Given the description of an element on the screen output the (x, y) to click on. 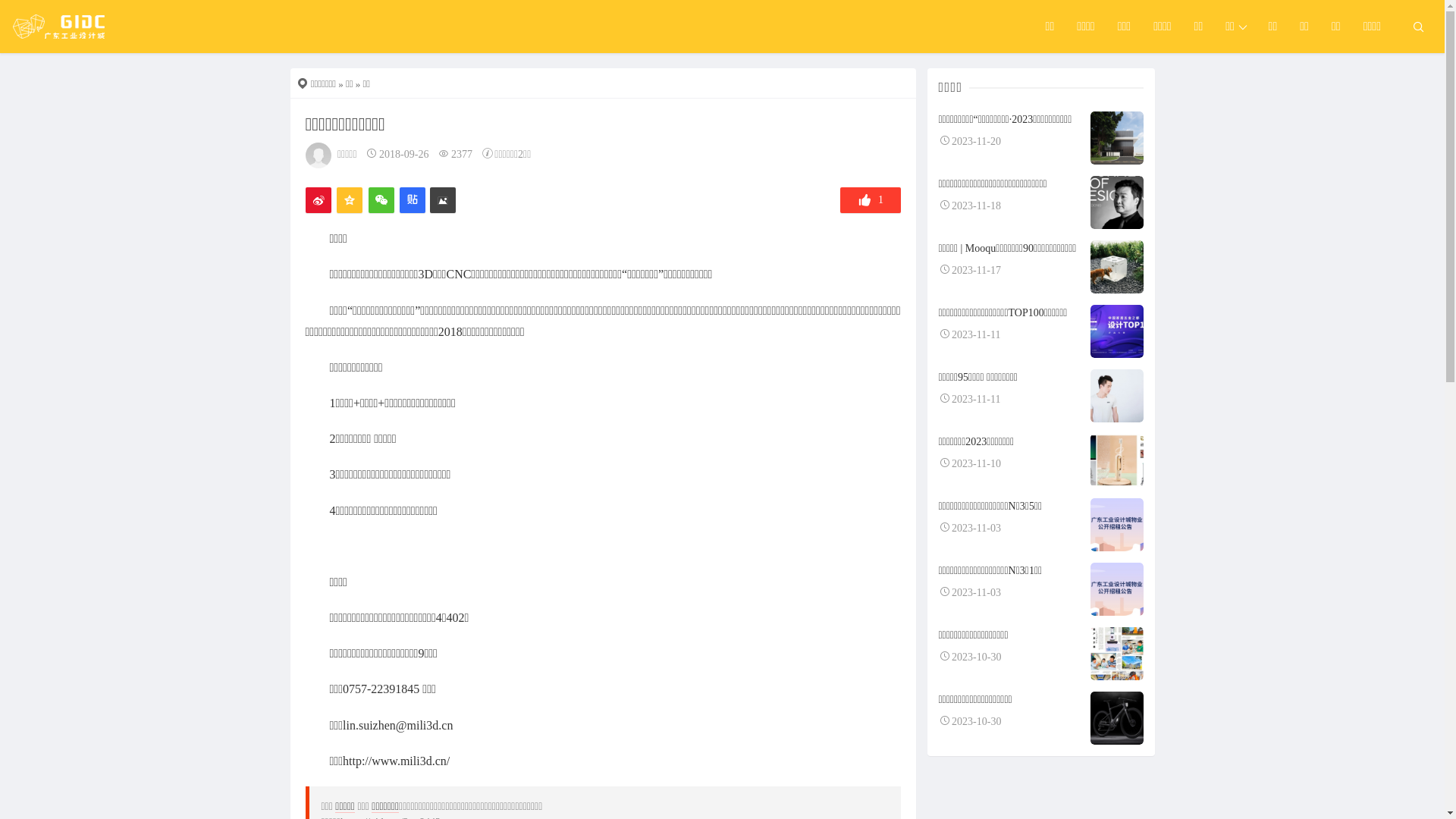
1 Element type: text (870, 200)
